Given the description of an element on the screen output the (x, y) to click on. 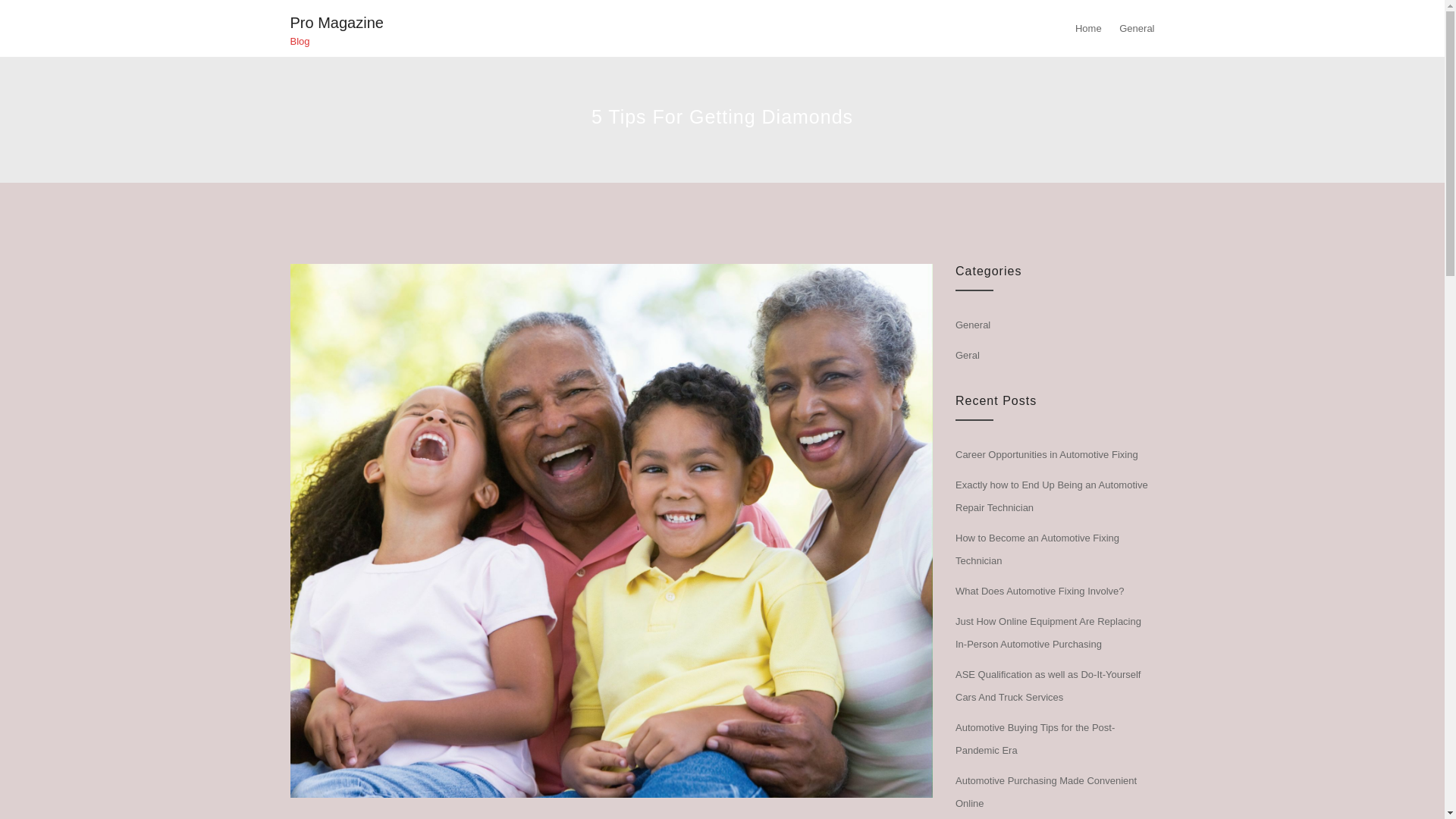
Exactly how to End Up Being an Automotive Repair Technician (1051, 496)
Career Opportunities in Automotive Fixing (1046, 454)
What Does Automotive Fixing Involve? (1039, 591)
Automotive Purchasing Made Convenient Online (1046, 791)
Pro Magazine (335, 22)
Automotive Buying Tips for the Post-Pandemic Era (1035, 738)
Geral (967, 355)
